Given the description of an element on the screen output the (x, y) to click on. 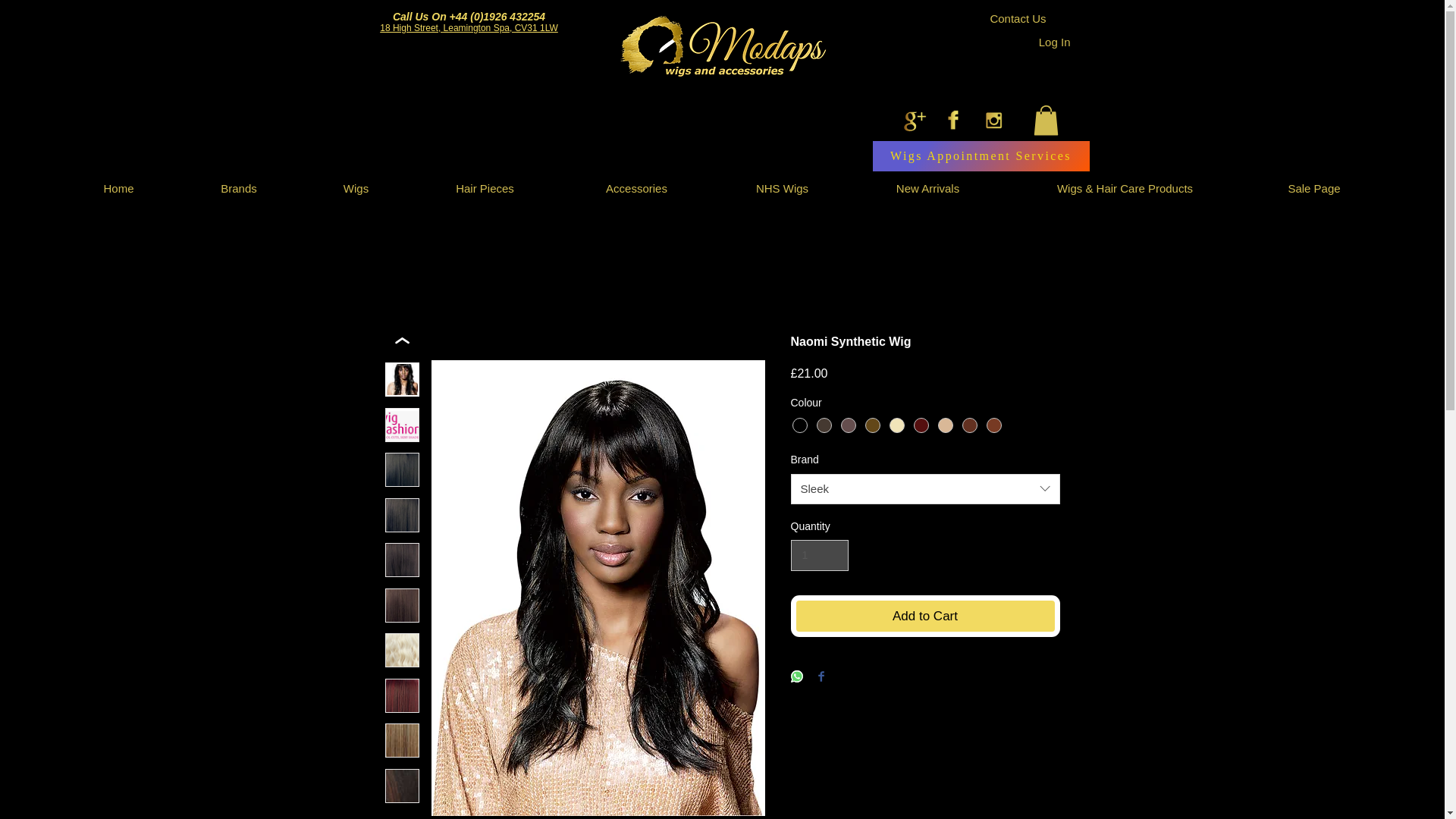
18 High Street, Leamington Spa, CV31 1LW (468, 27)
Home (118, 188)
Wigs (355, 188)
1 (818, 554)
Contact Us (1017, 18)
Family Business (720, 46)
Brands (238, 188)
Log In (1054, 41)
